Given the description of an element on the screen output the (x, y) to click on. 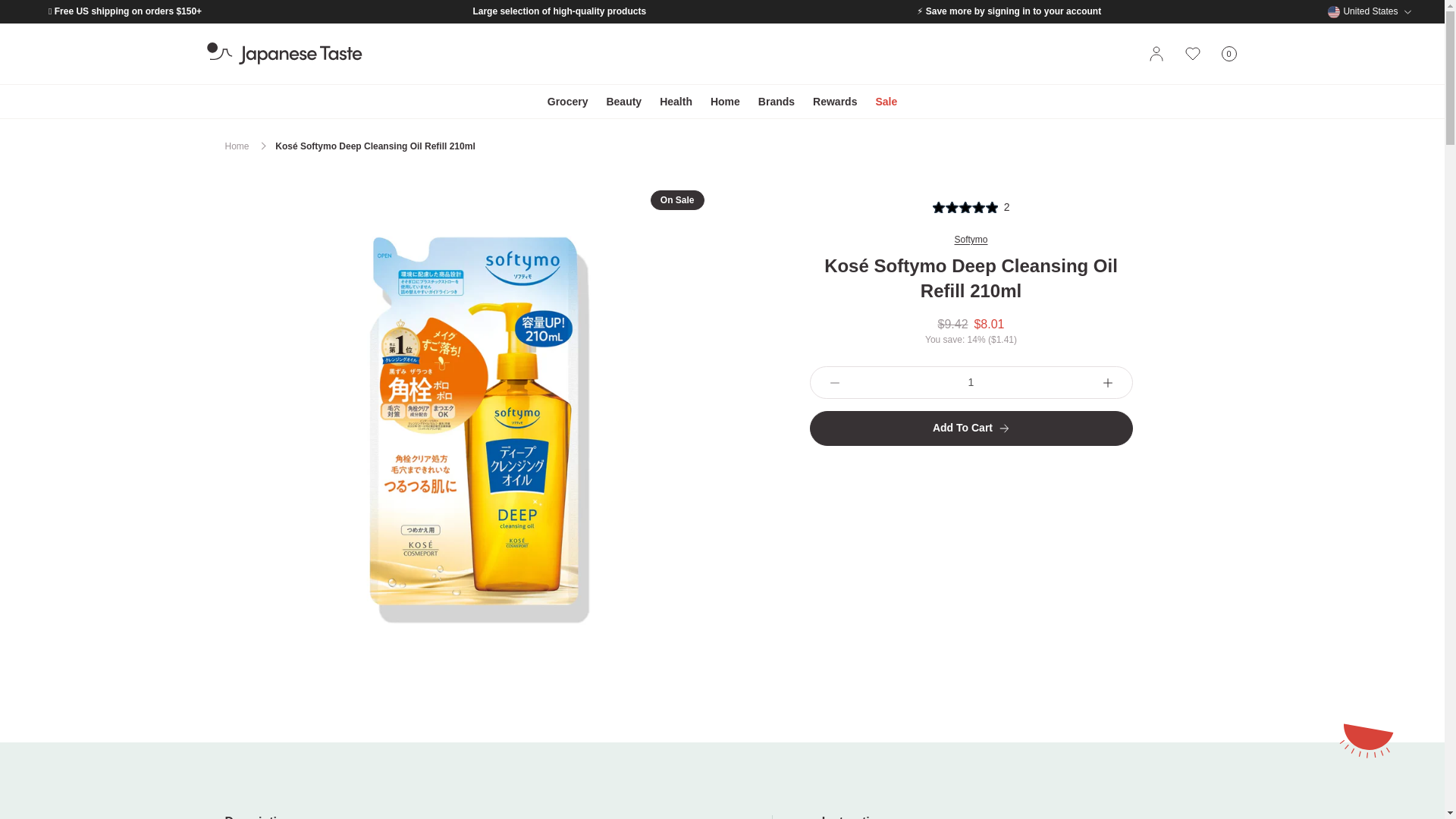
1 (1228, 54)
Japanese Taste (971, 382)
United States (283, 53)
Grocery (1369, 11)
